Given the description of an element on the screen output the (x, y) to click on. 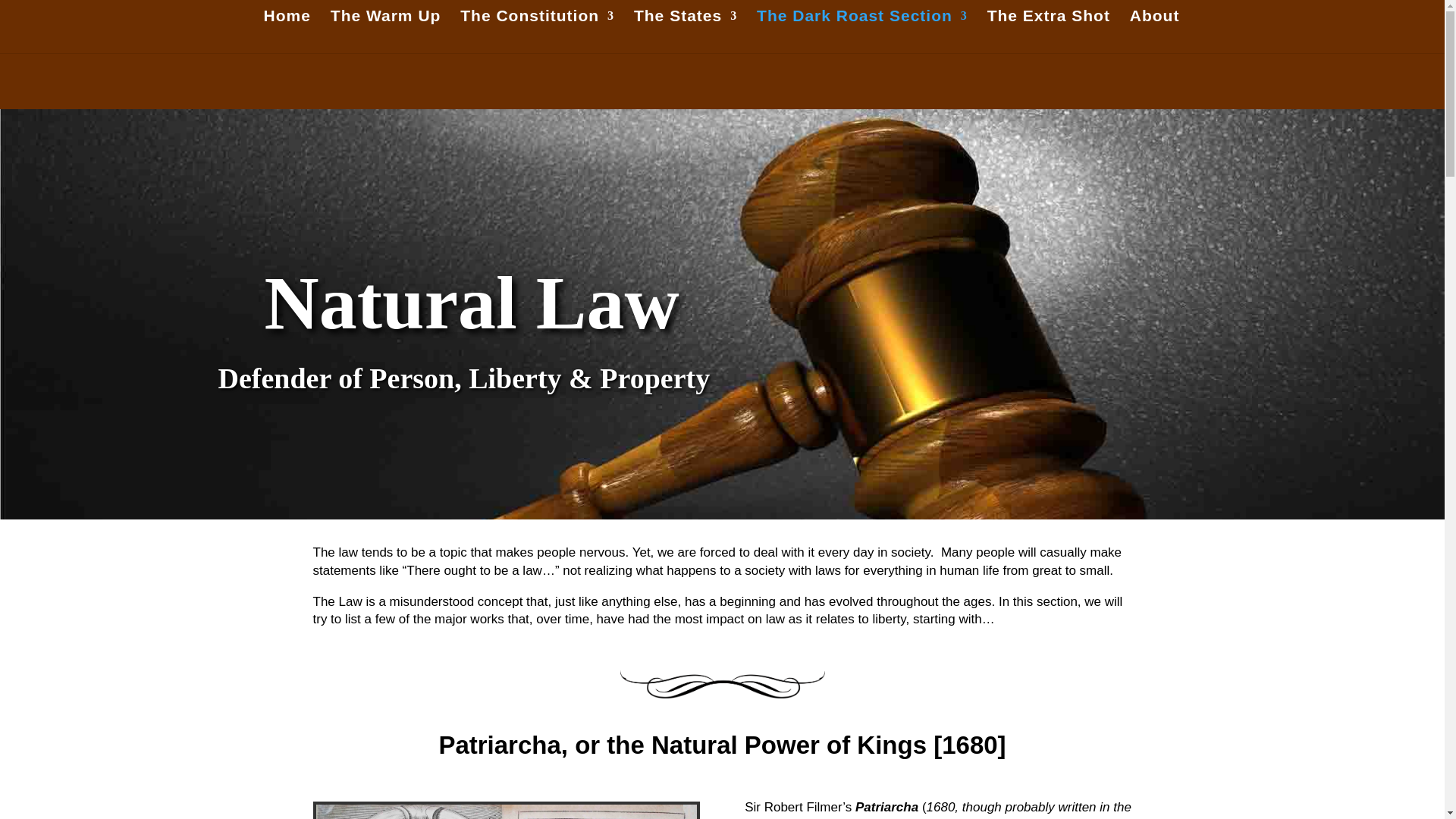
The Extra Shot (1048, 31)
Flourish 9 (722, 683)
patriarcha (505, 811)
The Warm Up (385, 31)
The States (684, 31)
About (1154, 31)
Home (287, 31)
The Constitution (537, 31)
The Dark Roast Section (862, 31)
